Given the description of an element on the screen output the (x, y) to click on. 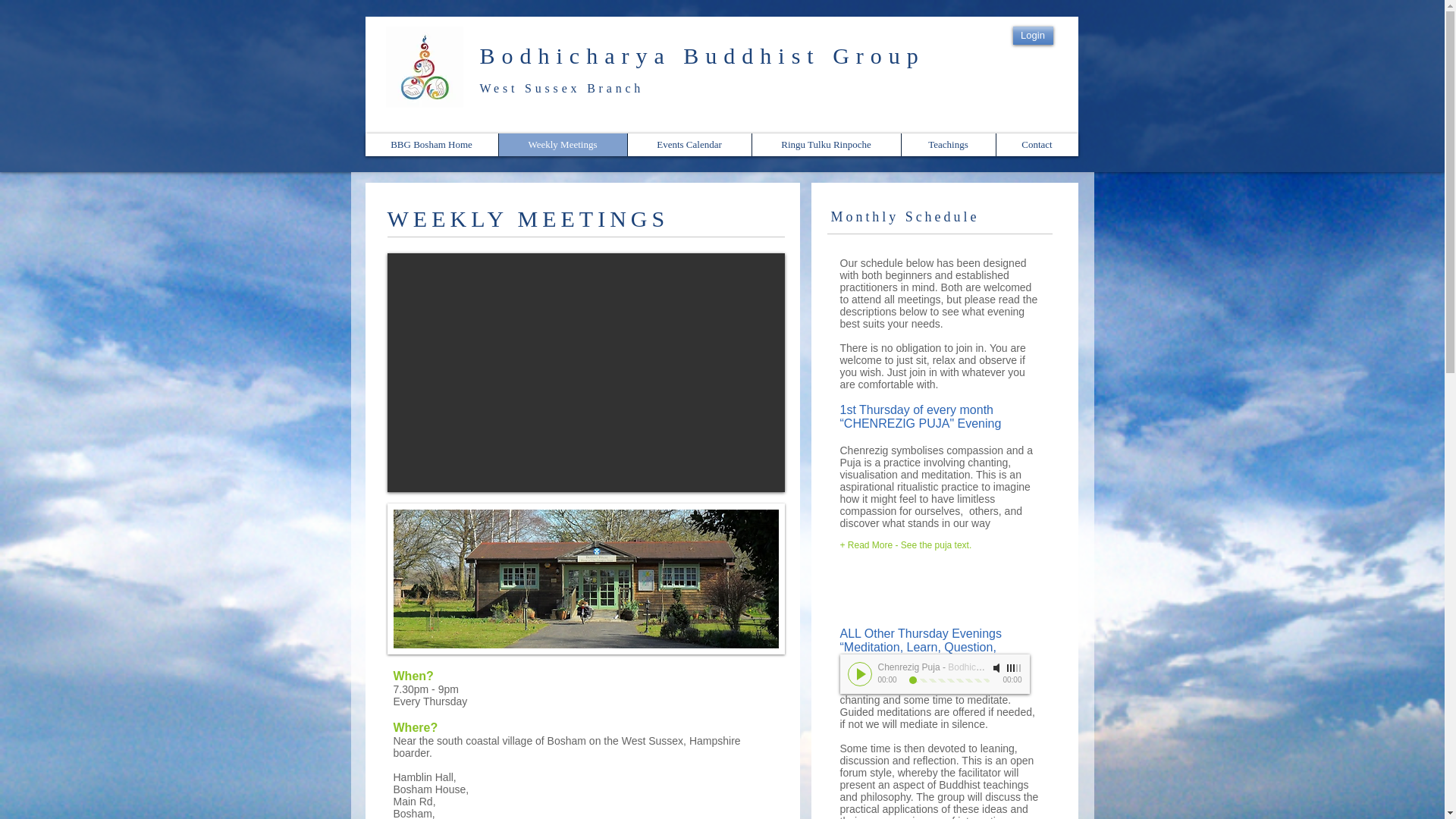
BBG Bosham Home (431, 144)
Events Calendar (688, 144)
Contact (1035, 144)
Google Maps (585, 372)
Login (1032, 35)
Weekly Meetings (561, 144)
0 (948, 680)
Teachings (948, 144)
Ringu Tulku Rinpoche (825, 144)
